Given the description of an element on the screen output the (x, y) to click on. 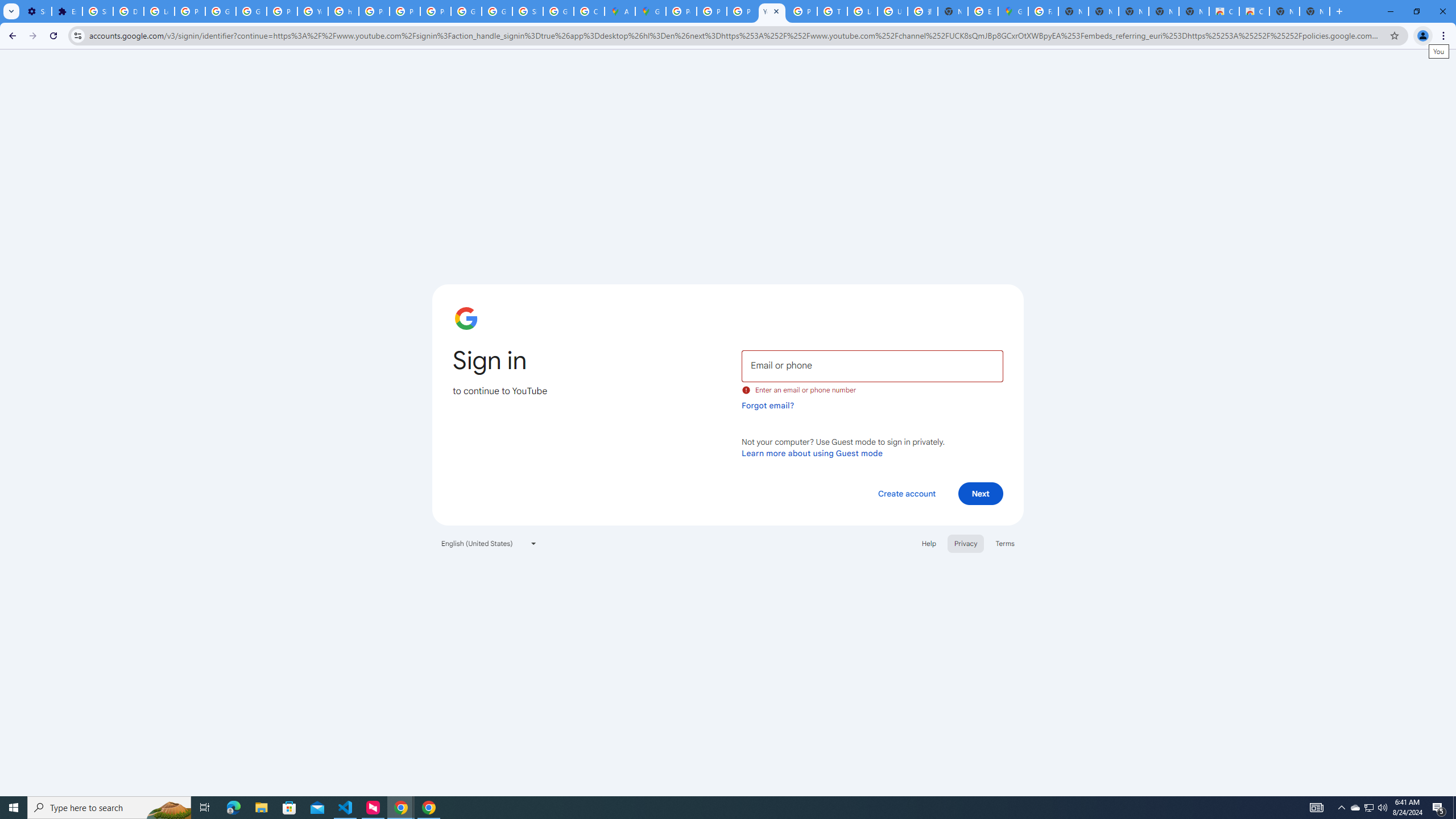
Forgot email? (767, 404)
Google Account Help (220, 11)
